Given the description of an element on the screen output the (x, y) to click on. 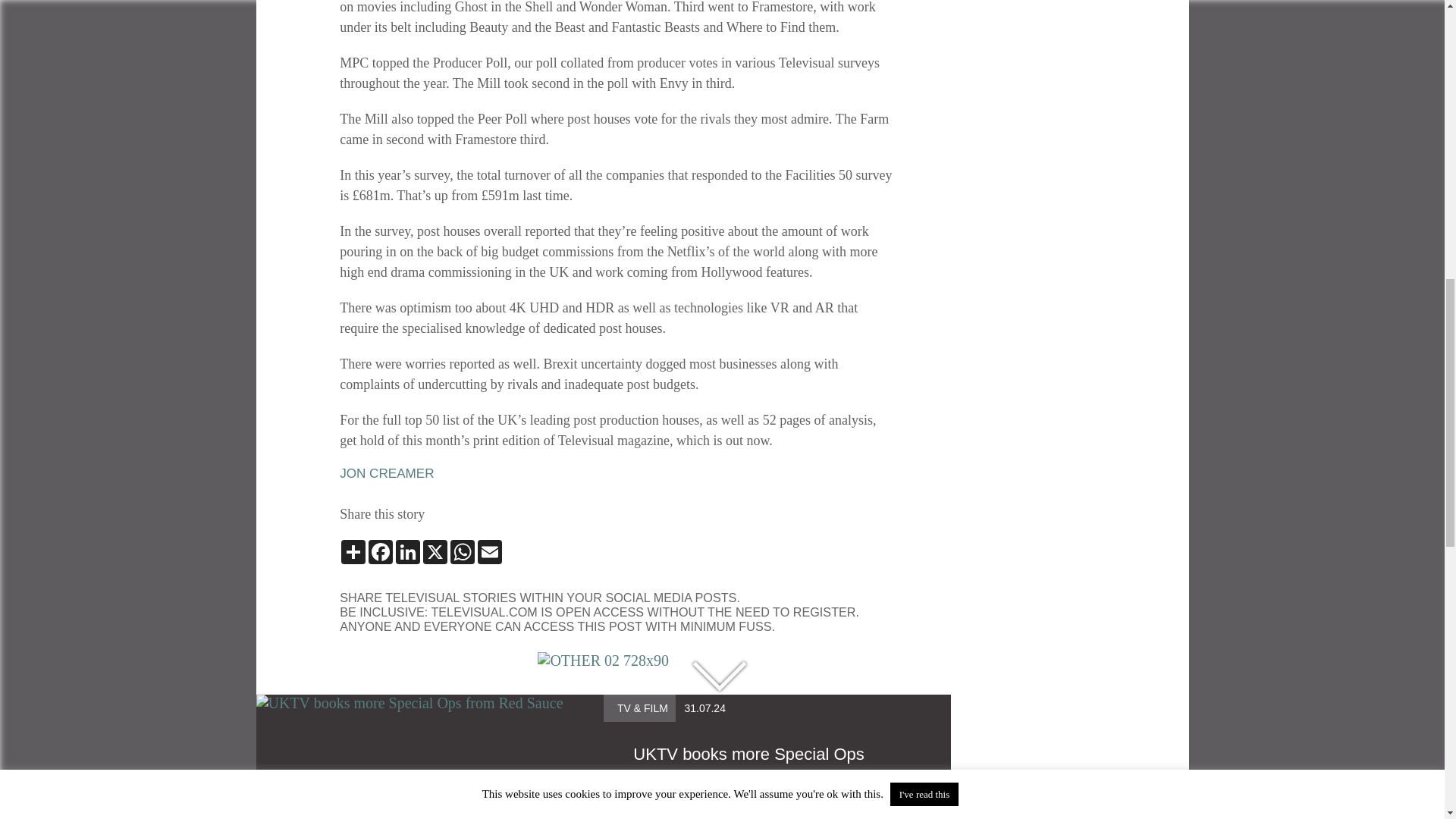
LinkedIn (408, 551)
Facebook (380, 551)
X (435, 551)
Email (489, 551)
WhatsApp (462, 551)
JON CREAMER (386, 473)
